Given the description of an element on the screen output the (x, y) to click on. 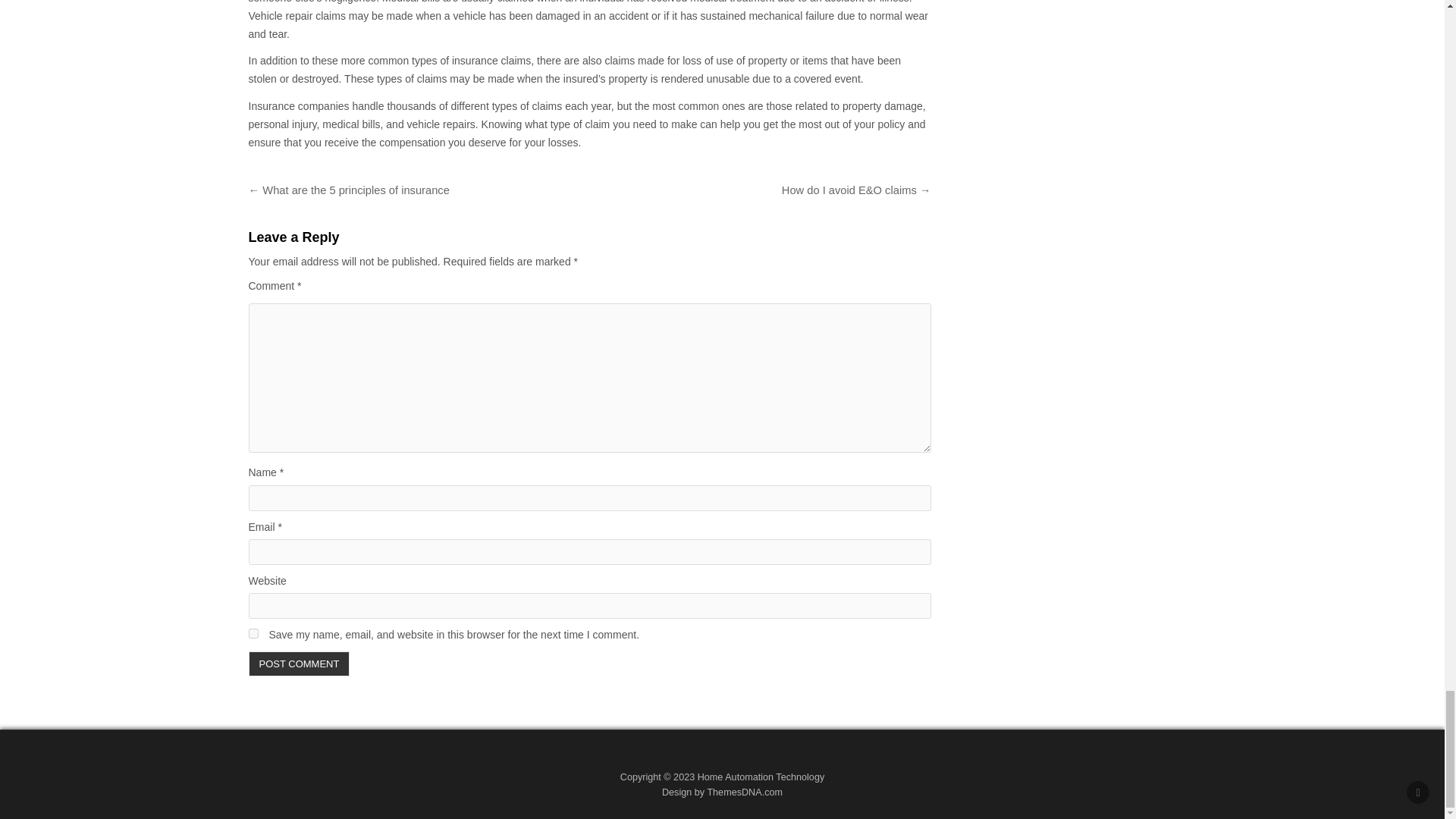
Post Comment (299, 663)
yes (253, 633)
Design by ThemesDNA.com (722, 792)
Post Comment (299, 663)
